Given the description of an element on the screen output the (x, y) to click on. 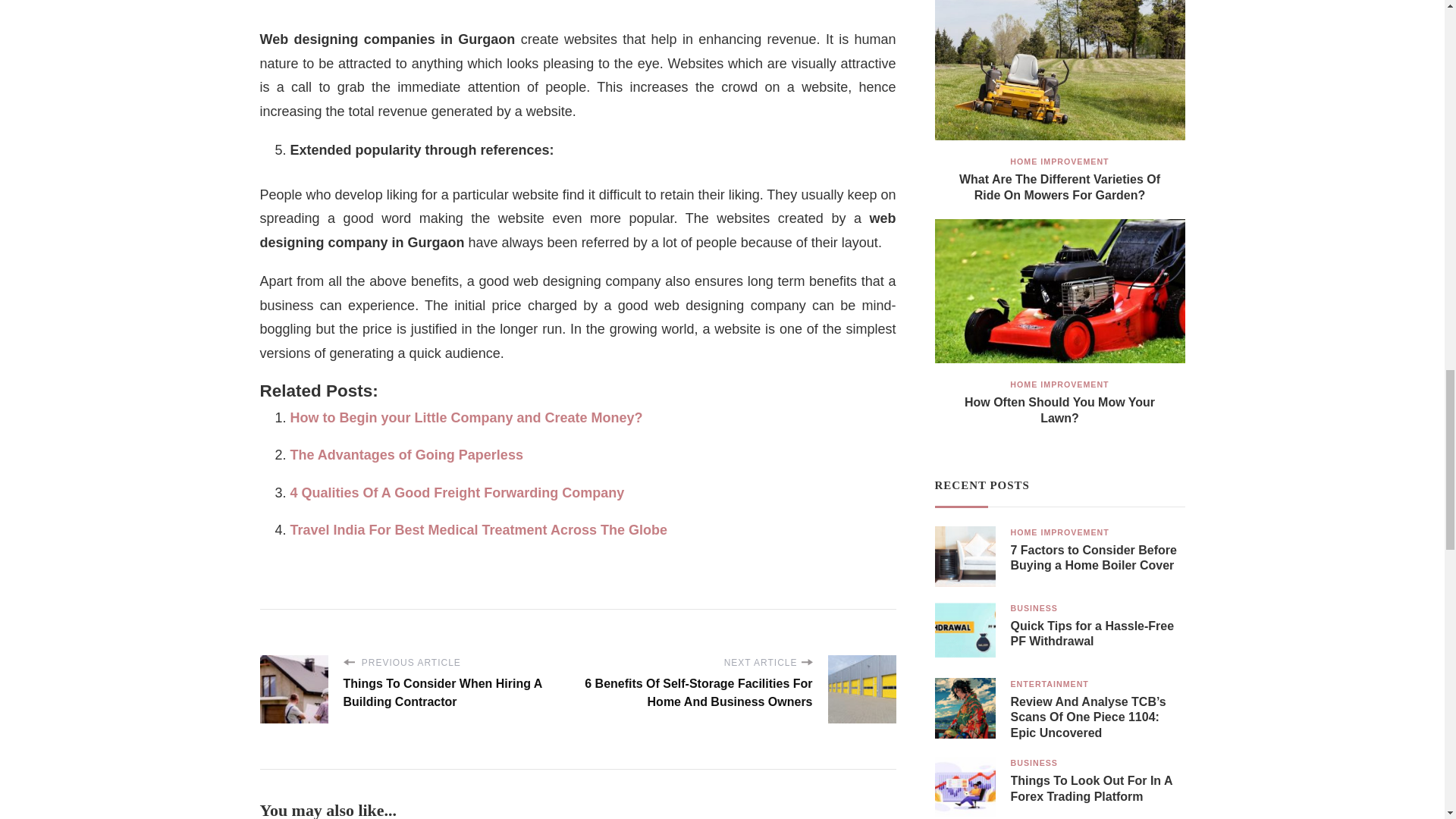
How to Begin your Little Company and Create Money? (465, 417)
How to Begin your Little Company and Create Money? (465, 417)
The Advantages of Going Paperless (405, 454)
The Advantages of Going Paperless (405, 454)
4 Qualities Of A Good Freight Forwarding Company (456, 492)
4 Qualities Of A Good Freight Forwarding Company (456, 492)
Travel India For Best Medical Treatment Across The Globe (477, 529)
Travel India For Best Medical Treatment Across The Globe (477, 529)
